Given the description of an element on the screen output the (x, y) to click on. 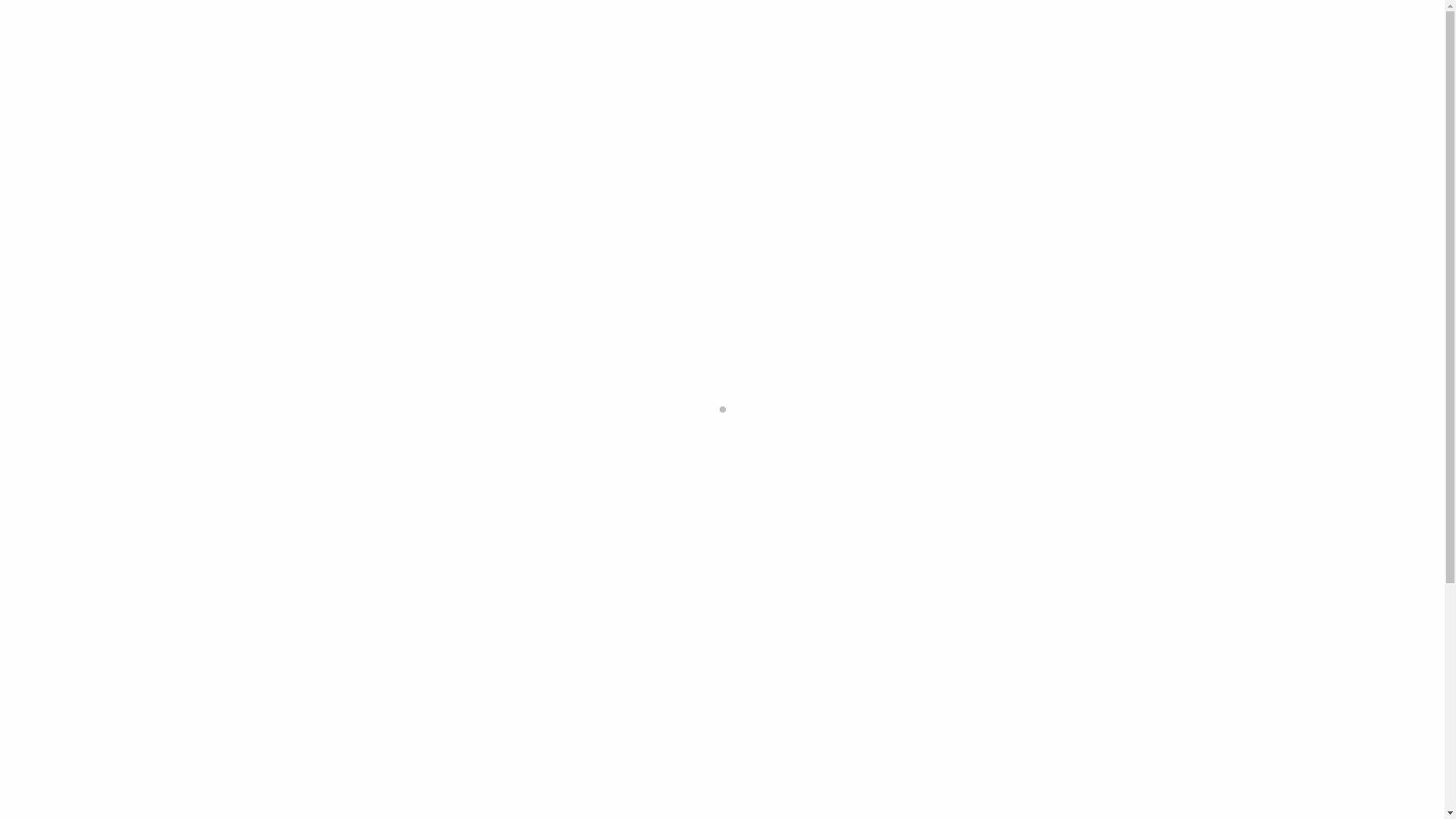
O firmie Element type: text (1010, 24)
BE Element type: text (1361, 24)
Kontakt Element type: text (1171, 24)
